Given the description of an element on the screen output the (x, y) to click on. 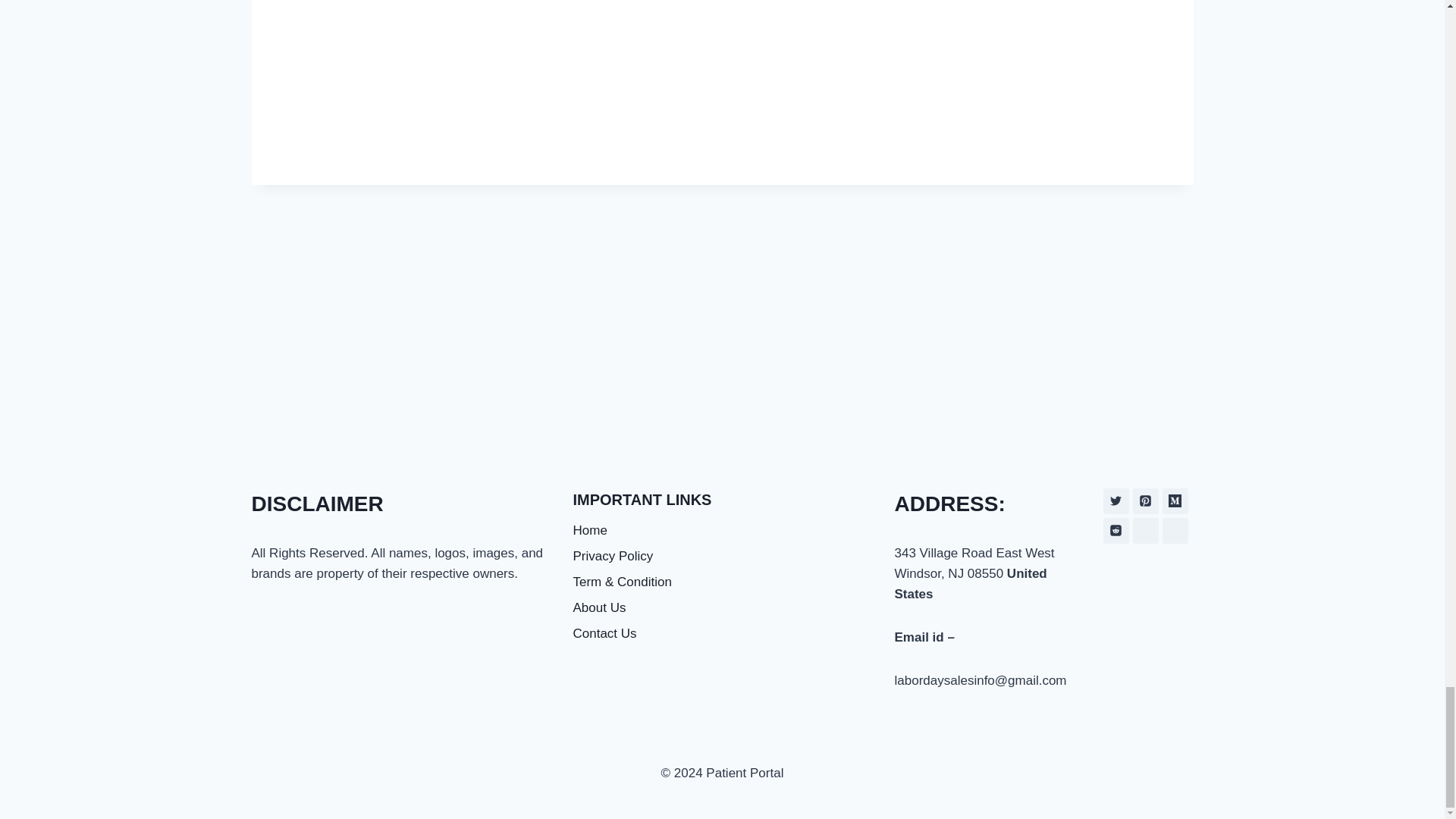
Contact Us (722, 634)
About Us (722, 608)
Home (722, 531)
Privacy Policy (722, 557)
